Given the description of an element on the screen output the (x, y) to click on. 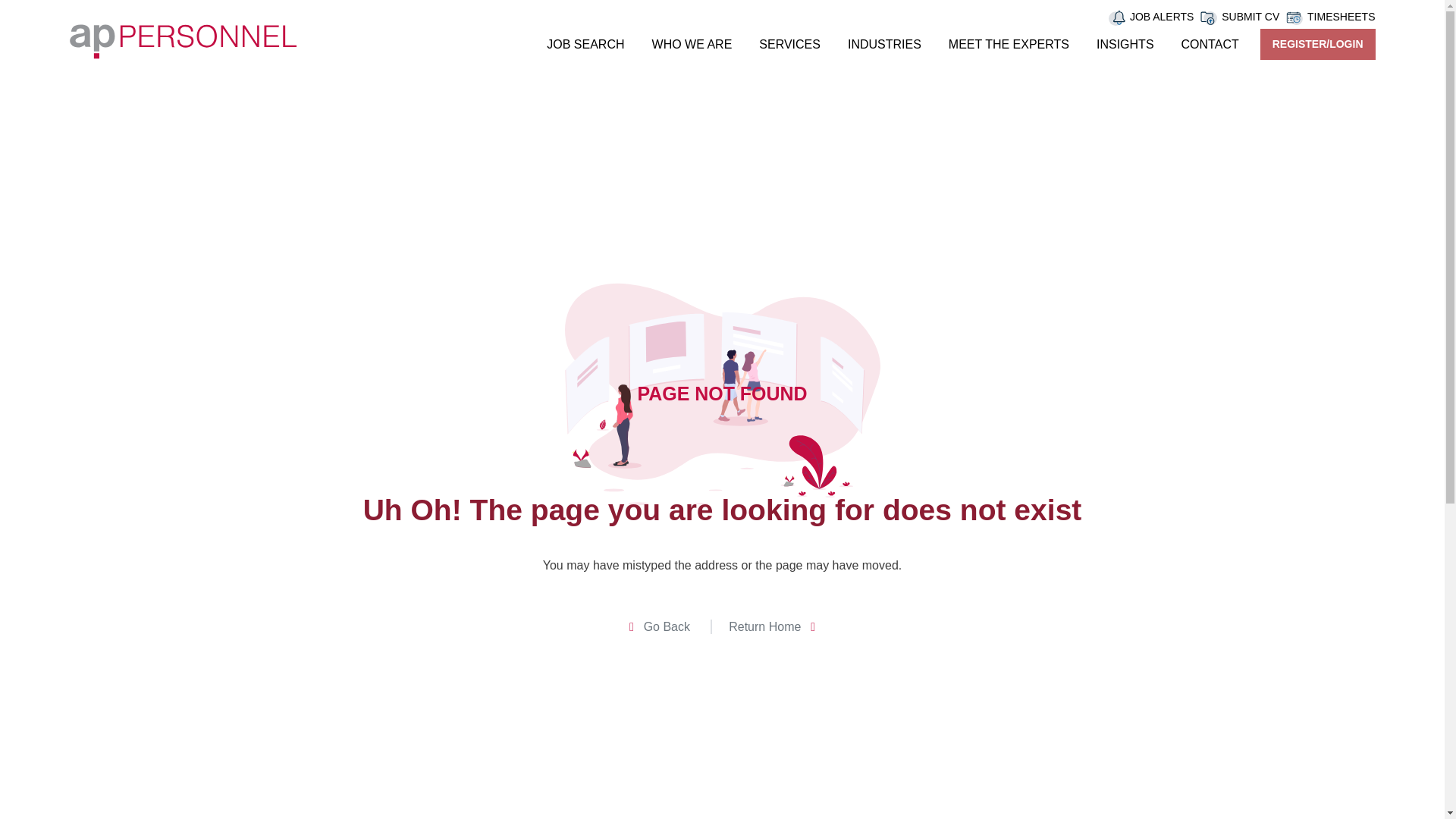
MEET THE EXPERTS (1008, 44)
INSIGHTS (1125, 44)
JOB ALERTS (1161, 17)
SUBMIT CV (1250, 17)
WHO WE ARE (692, 44)
JOB SEARCH (585, 44)
SERVICES (789, 44)
TIMESHEETS (1340, 17)
INDUSTRIES (884, 44)
